Given the description of an element on the screen output the (x, y) to click on. 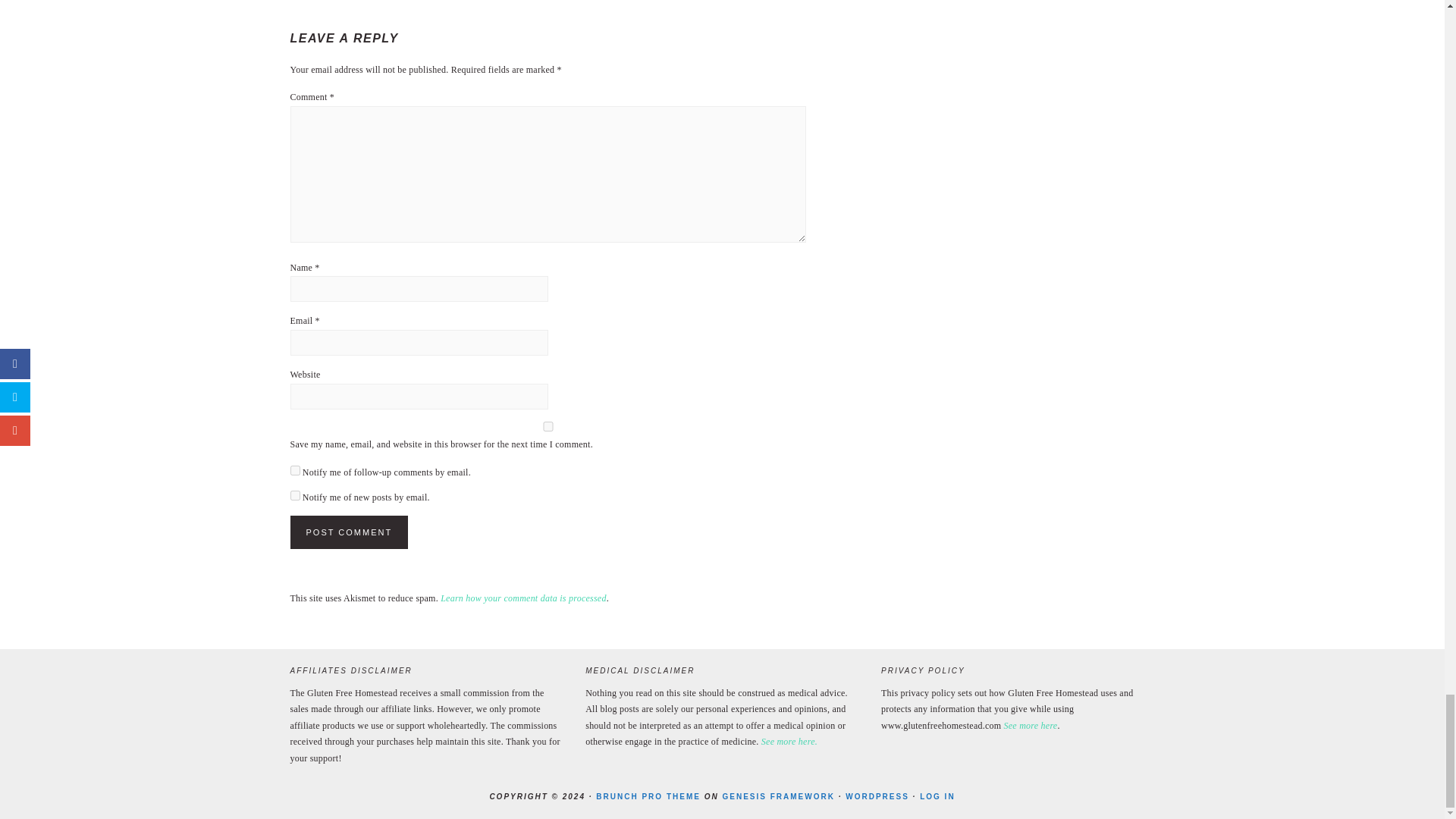
subscribe (294, 495)
subscribe (294, 470)
yes (547, 426)
Post Comment (348, 531)
